Given the description of an element on the screen output the (x, y) to click on. 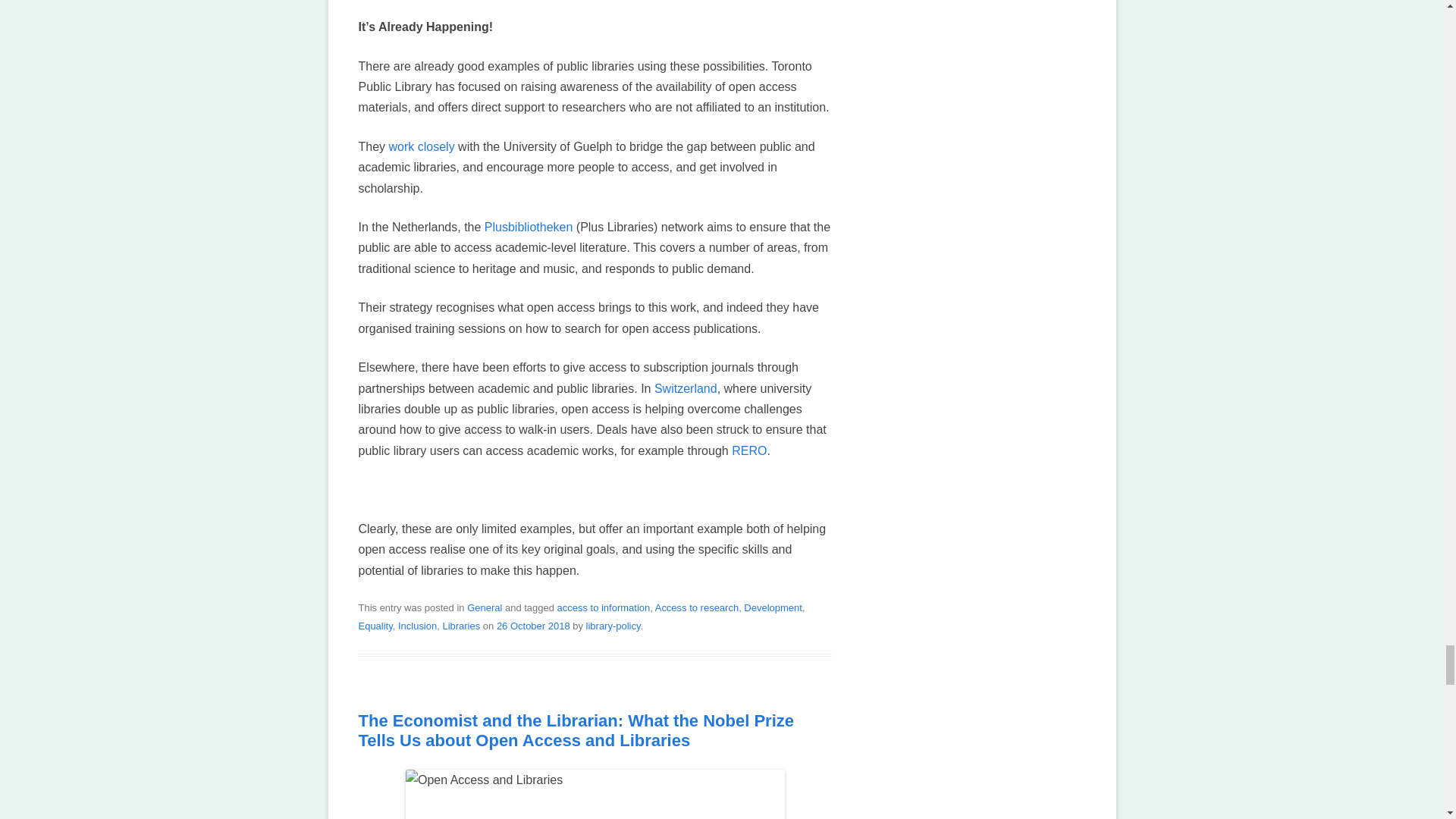
11:37 (533, 625)
View all posts by library-policy (613, 625)
